Given the description of an element on the screen output the (x, y) to click on. 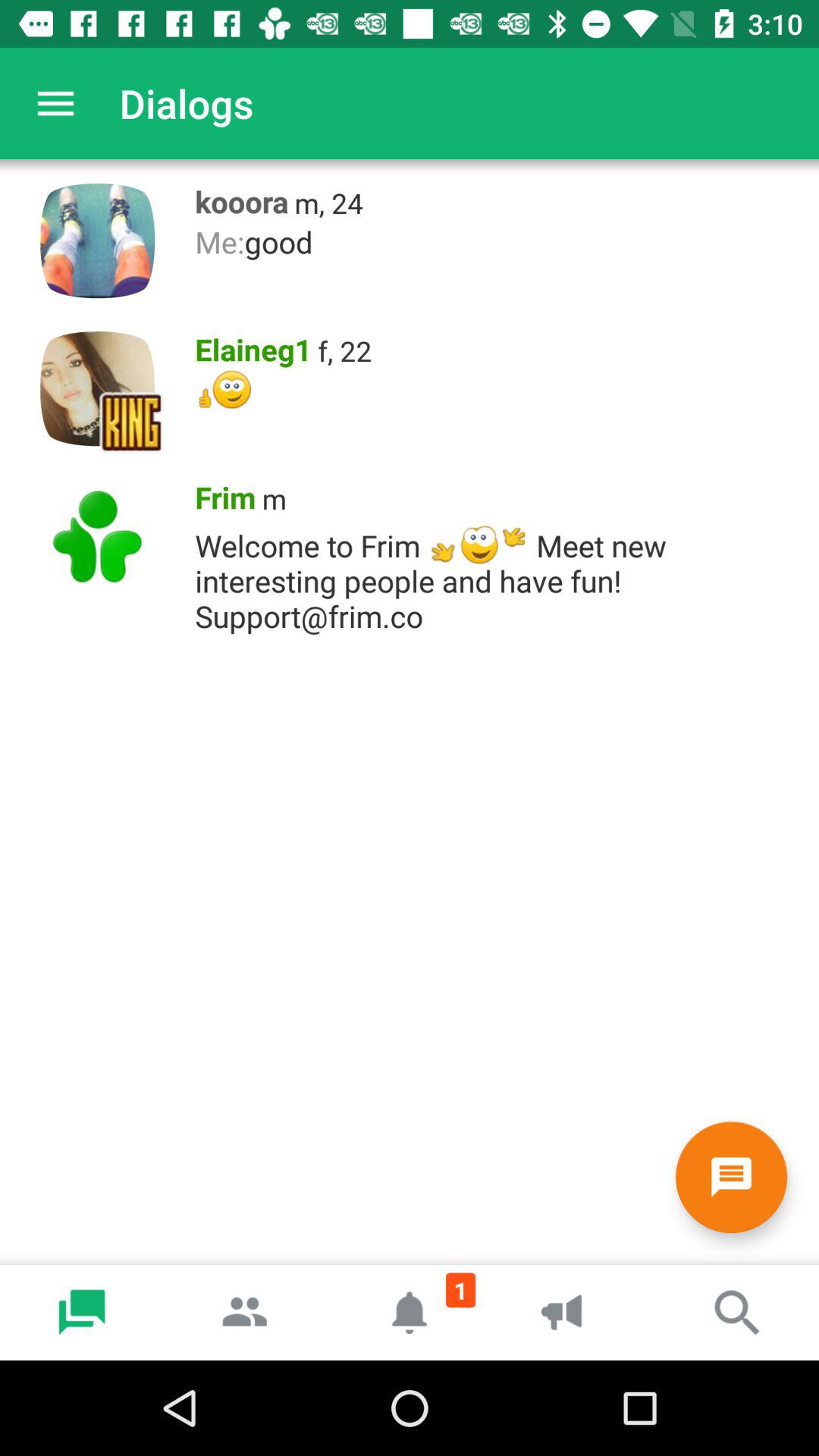
swipe to welcome to frim (499, 576)
